Given the description of an element on the screen output the (x, y) to click on. 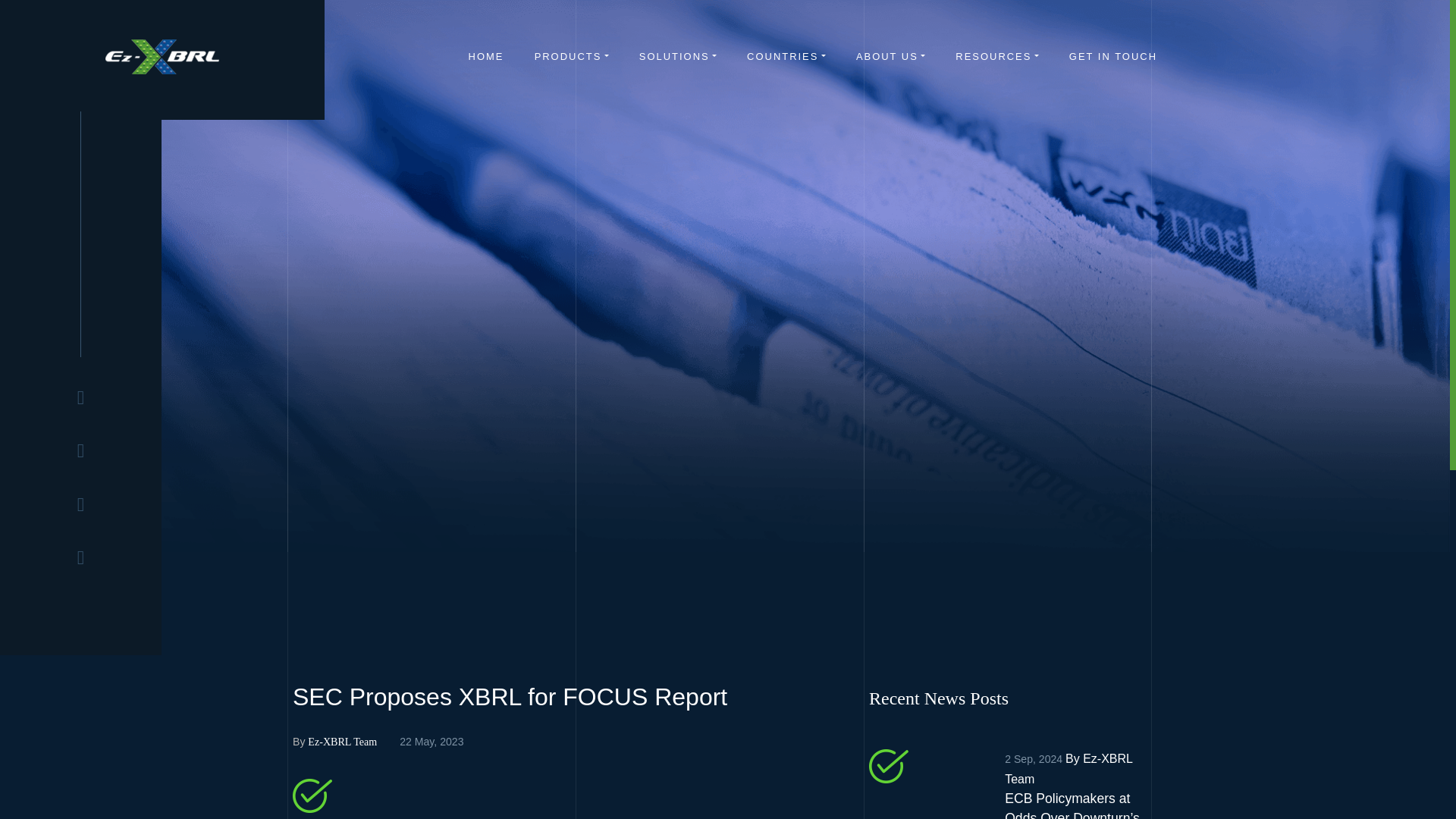
PRODUCTS (571, 56)
ABOUT US (890, 56)
RESOURCES (996, 56)
SOLUTIONS (677, 56)
COUNTRIES (785, 56)
GET IN TOUCH (1112, 56)
HOME (485, 56)
